Given the description of an element on the screen output the (x, y) to click on. 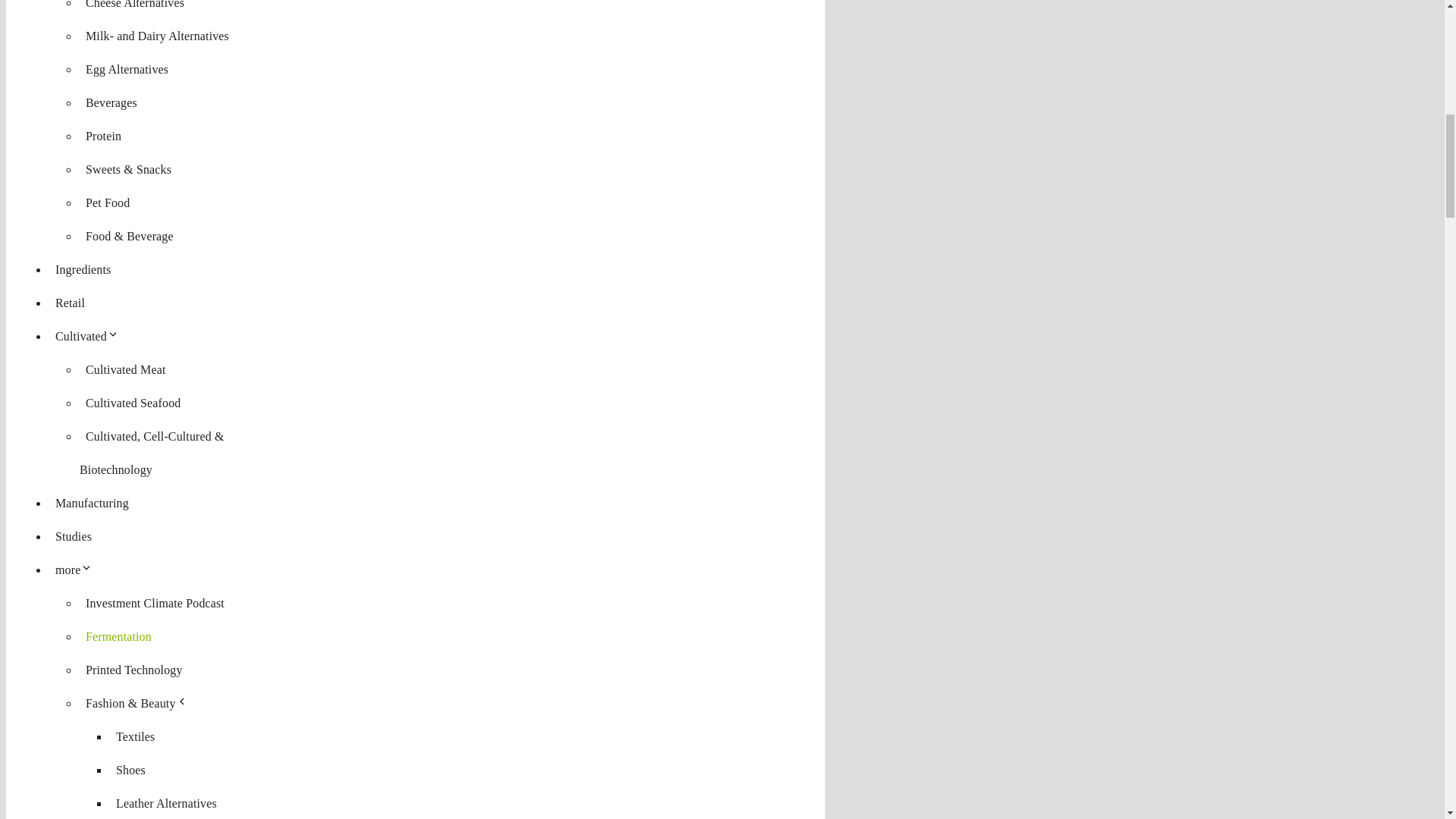
Beverages (111, 102)
Studies (73, 535)
Cultivated Meat (125, 369)
Fermentation (118, 636)
Retail (69, 302)
Manufacturing (92, 502)
Cheese Alternatives (135, 7)
Protein (104, 136)
Egg Alternatives (127, 69)
Milk- and Dairy Alternatives (157, 35)
